Given the description of an element on the screen output the (x, y) to click on. 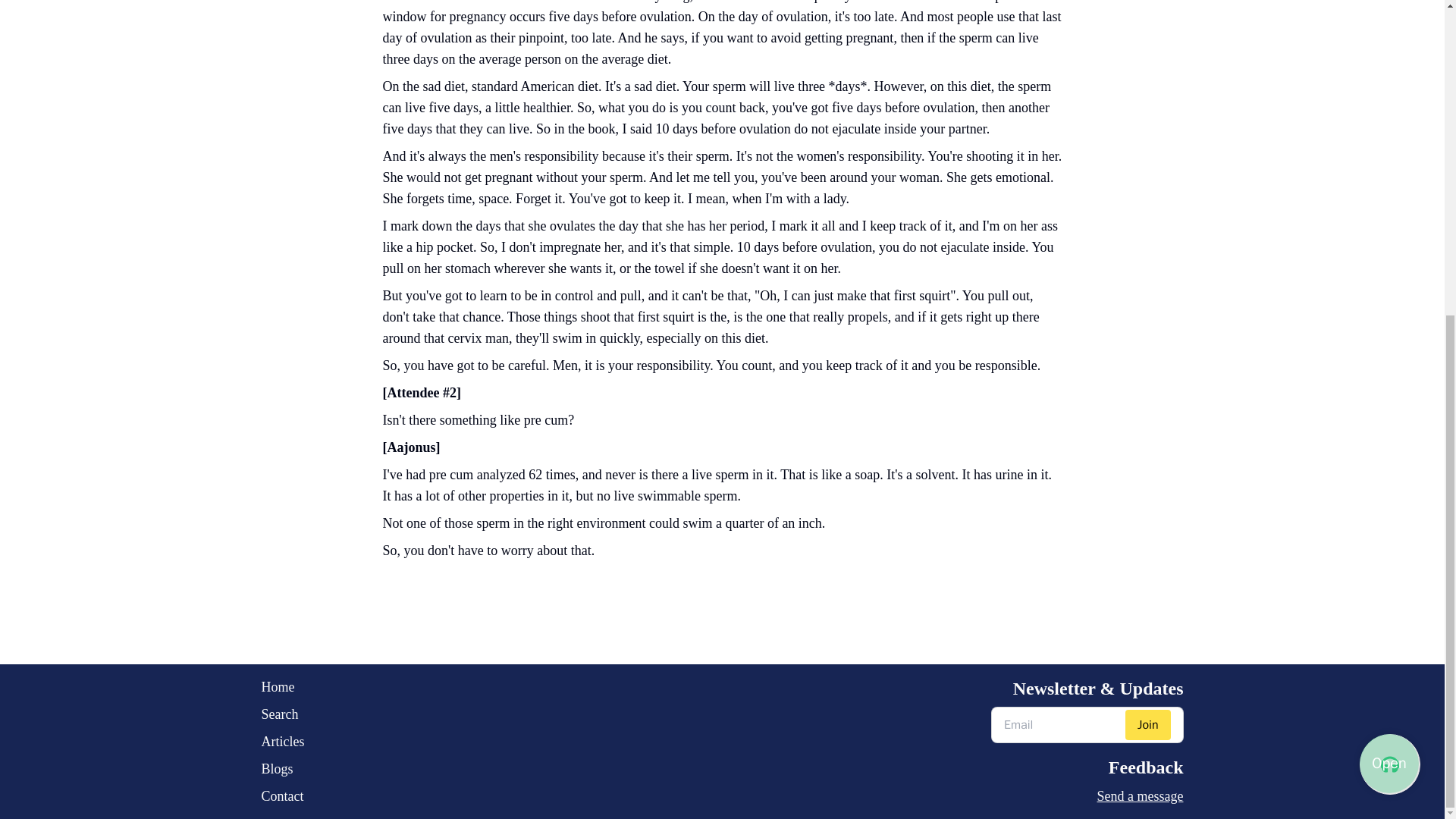
Articles (282, 741)
Contact (282, 795)
Blogs (282, 768)
Search (282, 713)
Send a message (1086, 795)
Home (282, 686)
Join (1147, 725)
